Given the description of an element on the screen output the (x, y) to click on. 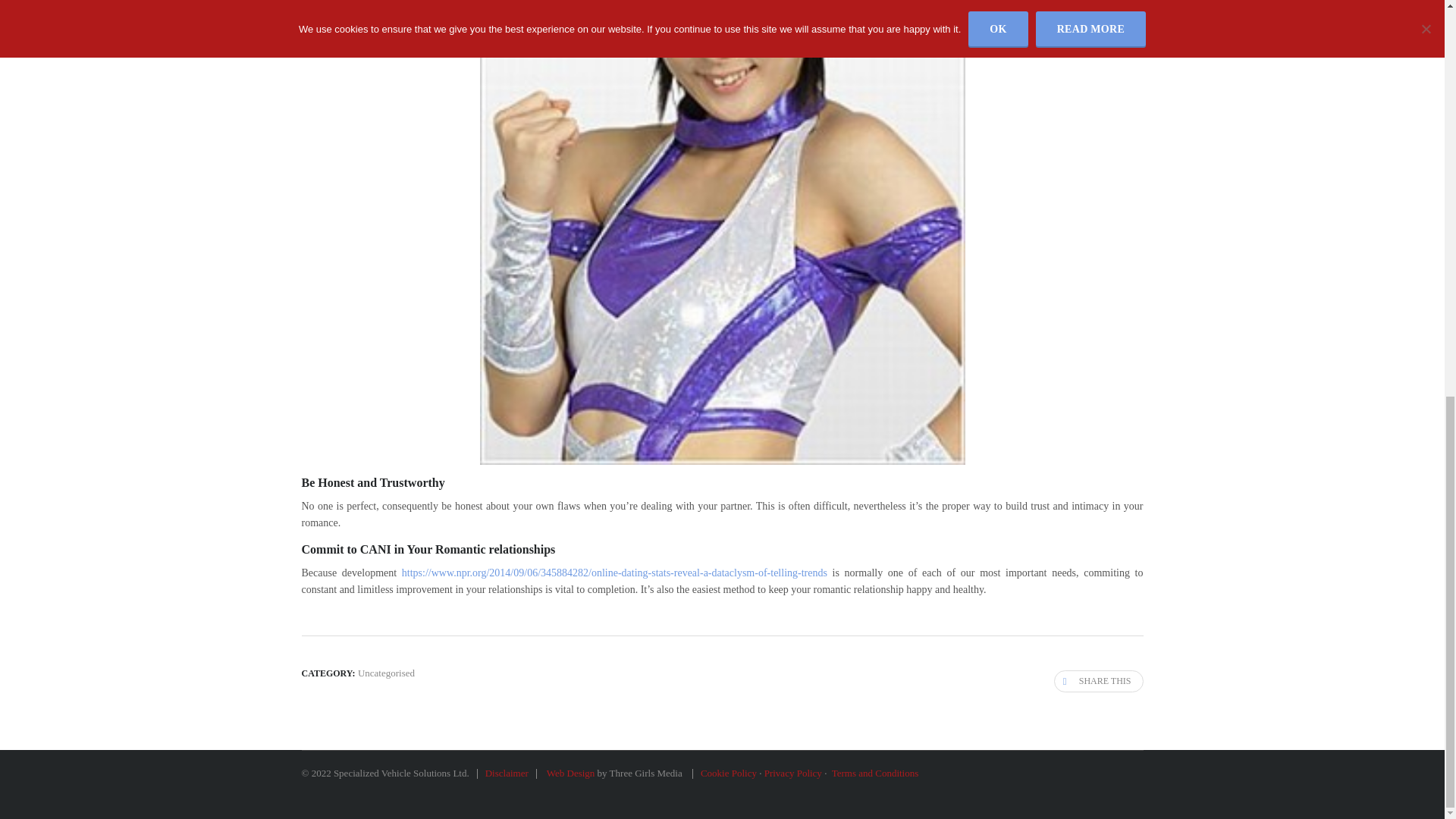
Privacy Policy (793, 772)
Disclaimer (506, 772)
Cookie Policy (728, 772)
Terms and Conditions (874, 772)
Uncategorised (386, 672)
SHARE THIS (1098, 681)
Share this (1098, 681)
Web Design (569, 772)
